Given the description of an element on the screen output the (x, y) to click on. 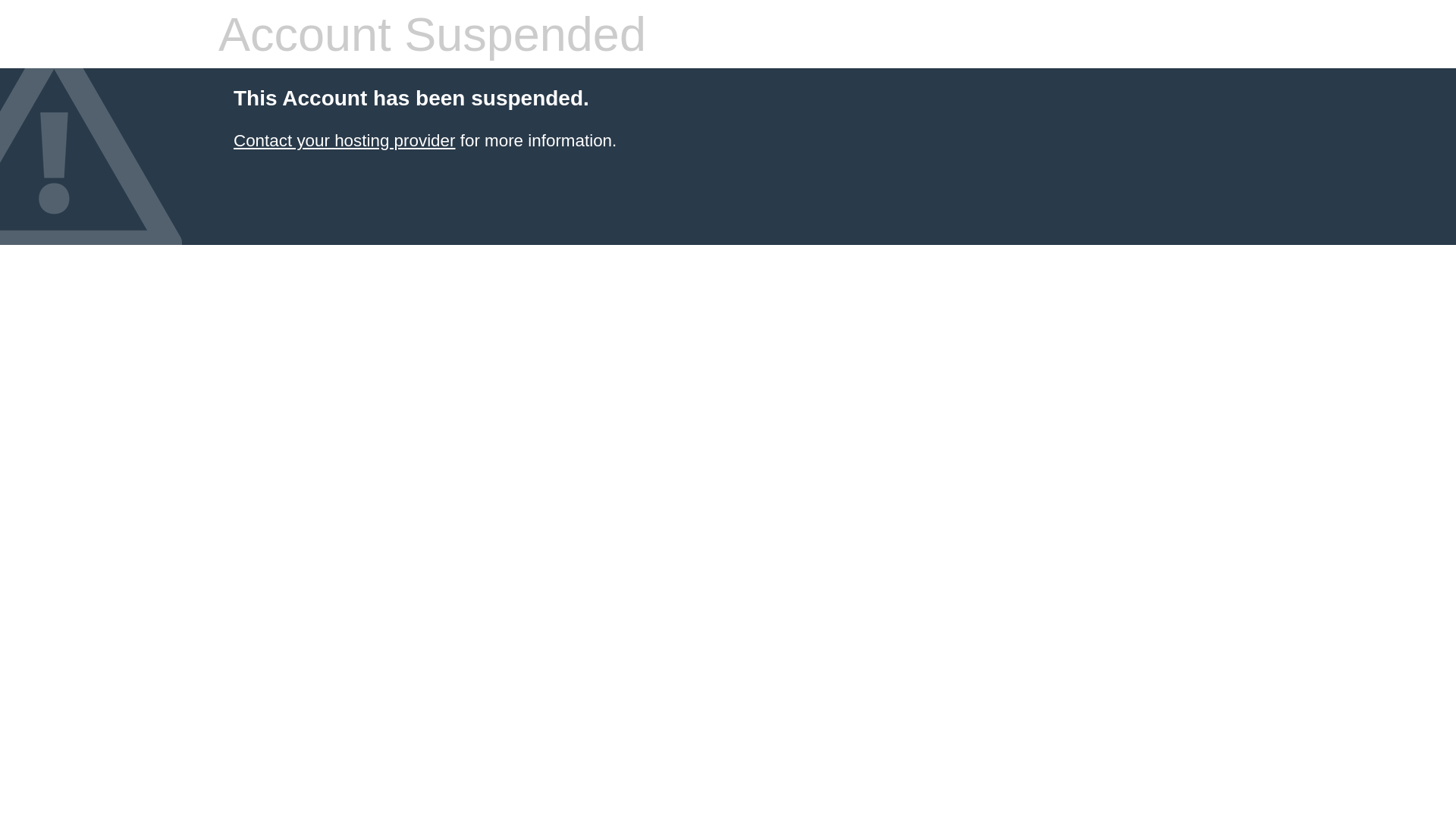
Contact your hosting provider Element type: text (344, 140)
